Given the description of an element on the screen output the (x, y) to click on. 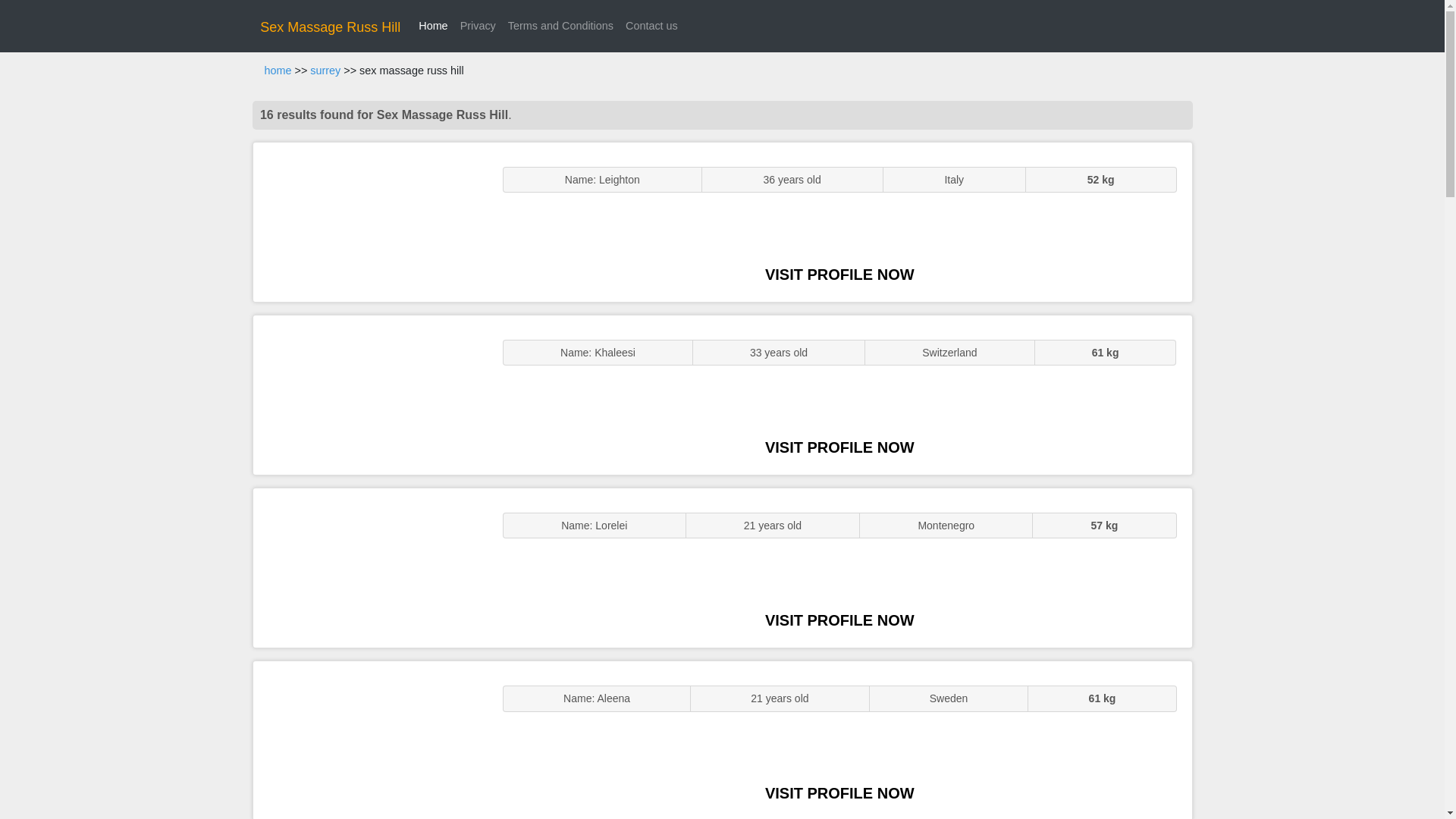
home (277, 70)
VISIT PROFILE NOW (839, 274)
VISIT PROFILE NOW (839, 619)
Contact us (652, 25)
VISIT PROFILE NOW (839, 792)
Sex Massage Russ Hill (330, 27)
Sluts (370, 739)
Terms and Conditions (561, 25)
 ENGLISH STUNNER (370, 222)
Privacy (478, 25)
